Given the description of an element on the screen output the (x, y) to click on. 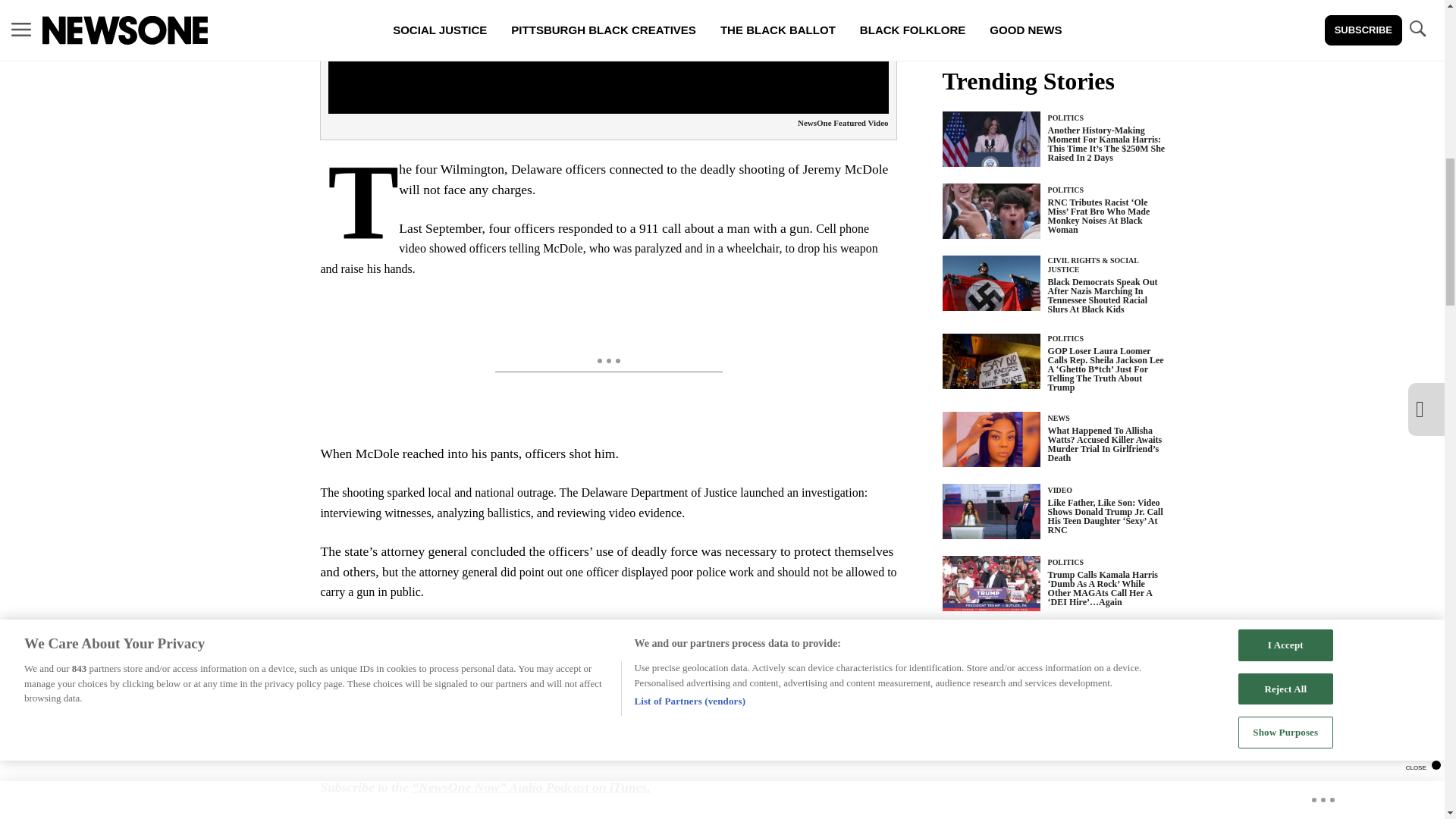
watch (670, 727)
NewsOne Now with Roland Martin (737, 727)
Roland Martin (588, 737)
NewsOne Now with Roland Martin on TV One (509, 748)
NewsOne Now with Roland Martin (670, 727)
NewsOne Now Audio Podcast (530, 786)
NewsOne Now (737, 727)
TV One (509, 748)
